Given the description of an element on the screen output the (x, y) to click on. 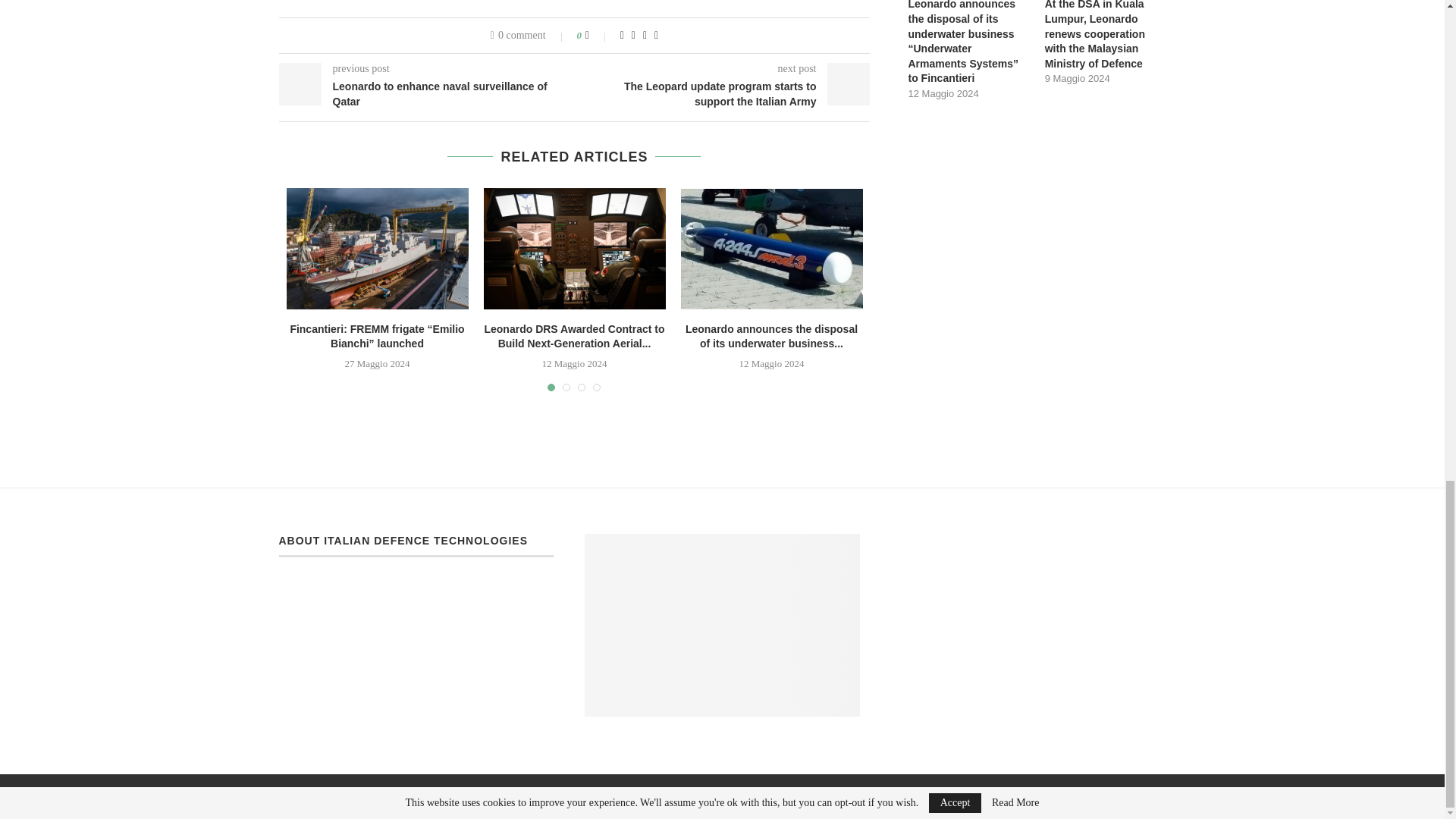
Leonardo to enhance naval surveillance of Qatar (427, 93)
Like (597, 35)
